Given the description of an element on the screen output the (x, y) to click on. 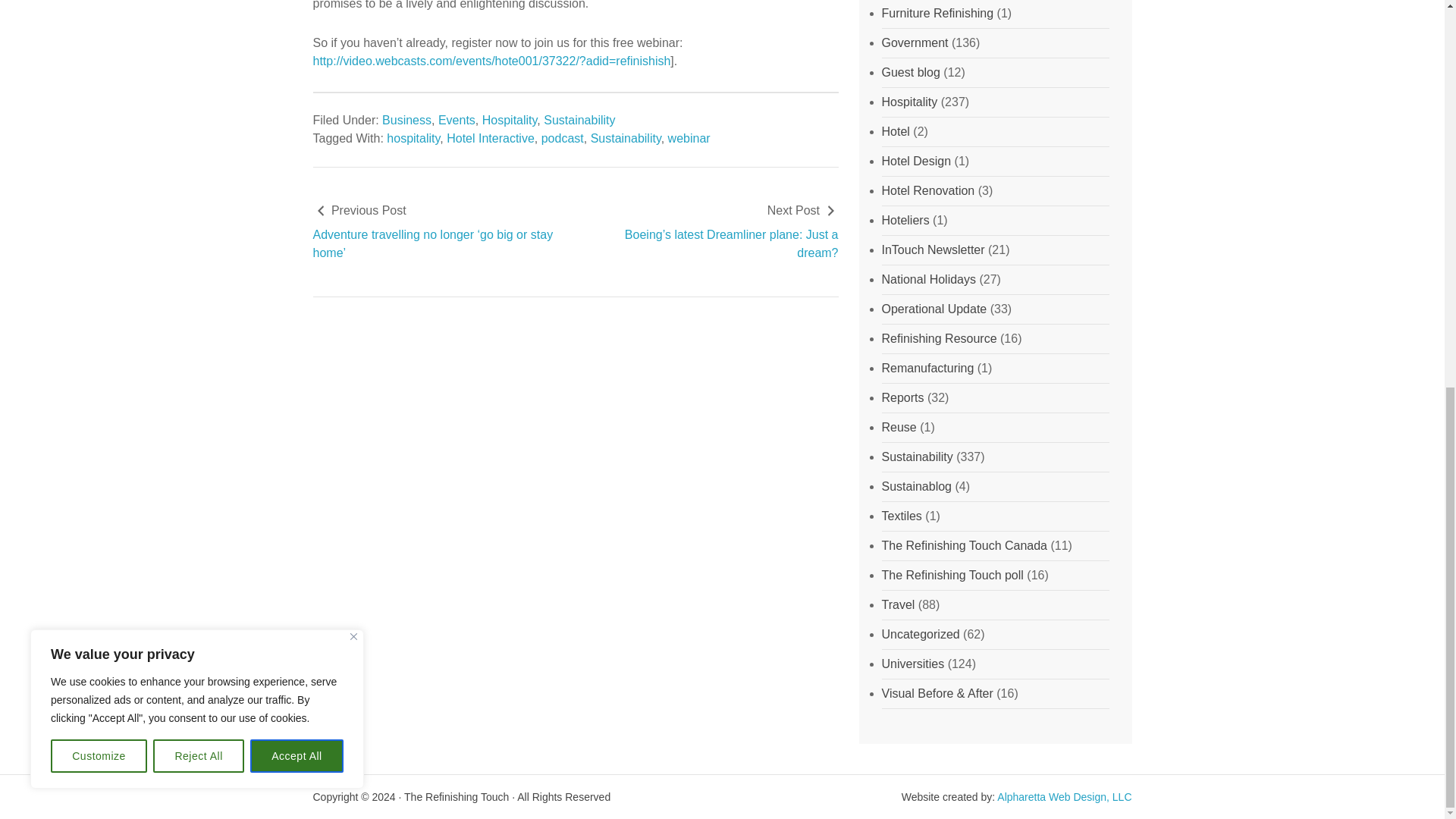
Customize (98, 23)
Accept All (296, 23)
Reject All (198, 23)
